Given the description of an element on the screen output the (x, y) to click on. 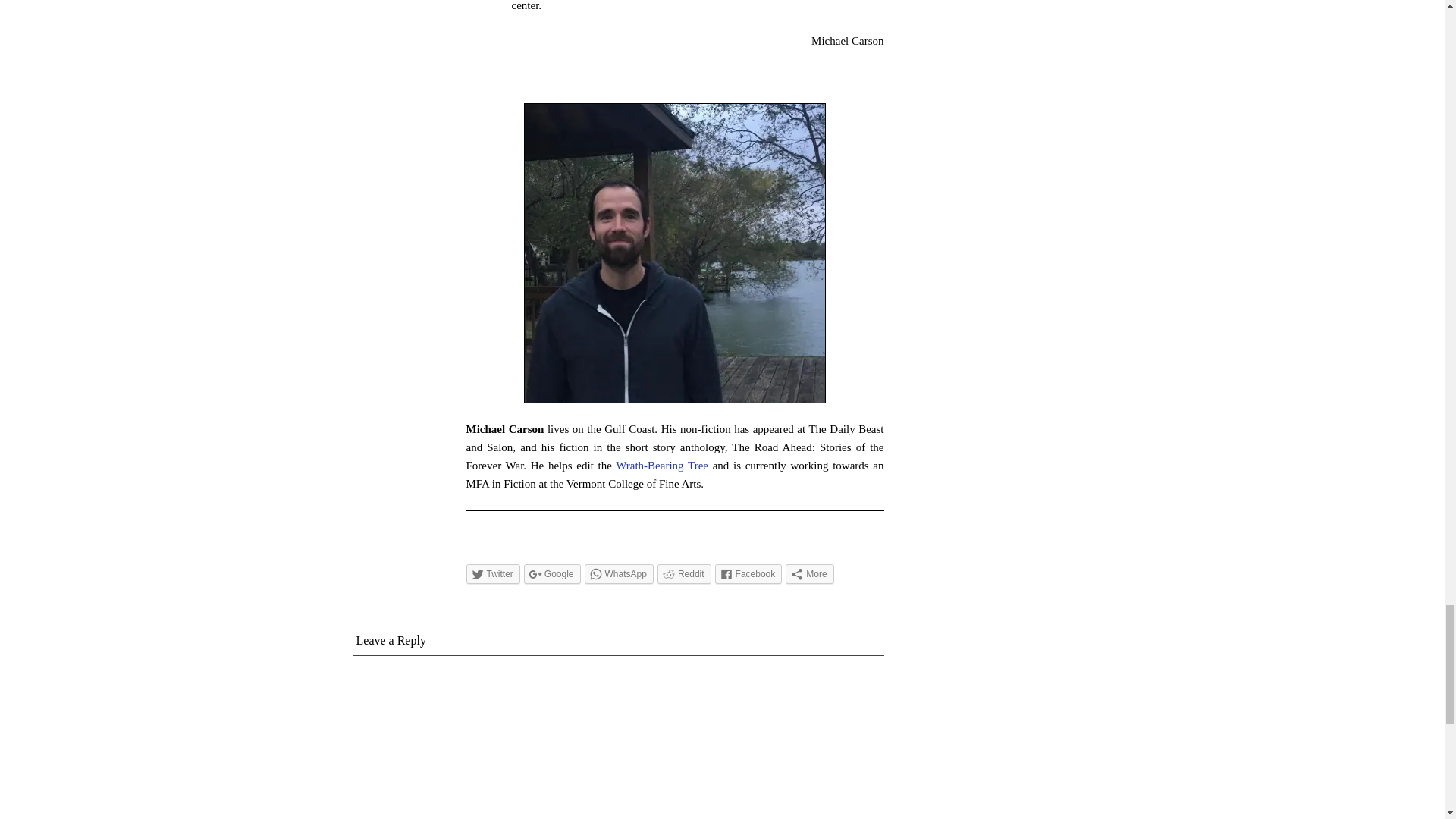
Click to share on WhatsApp (619, 573)
Click to share on Facebook (748, 573)
Click to share on Twitter (492, 573)
Comment Form (617, 741)
Click to share on Reddit (684, 573)
